Given the description of an element on the screen output the (x, y) to click on. 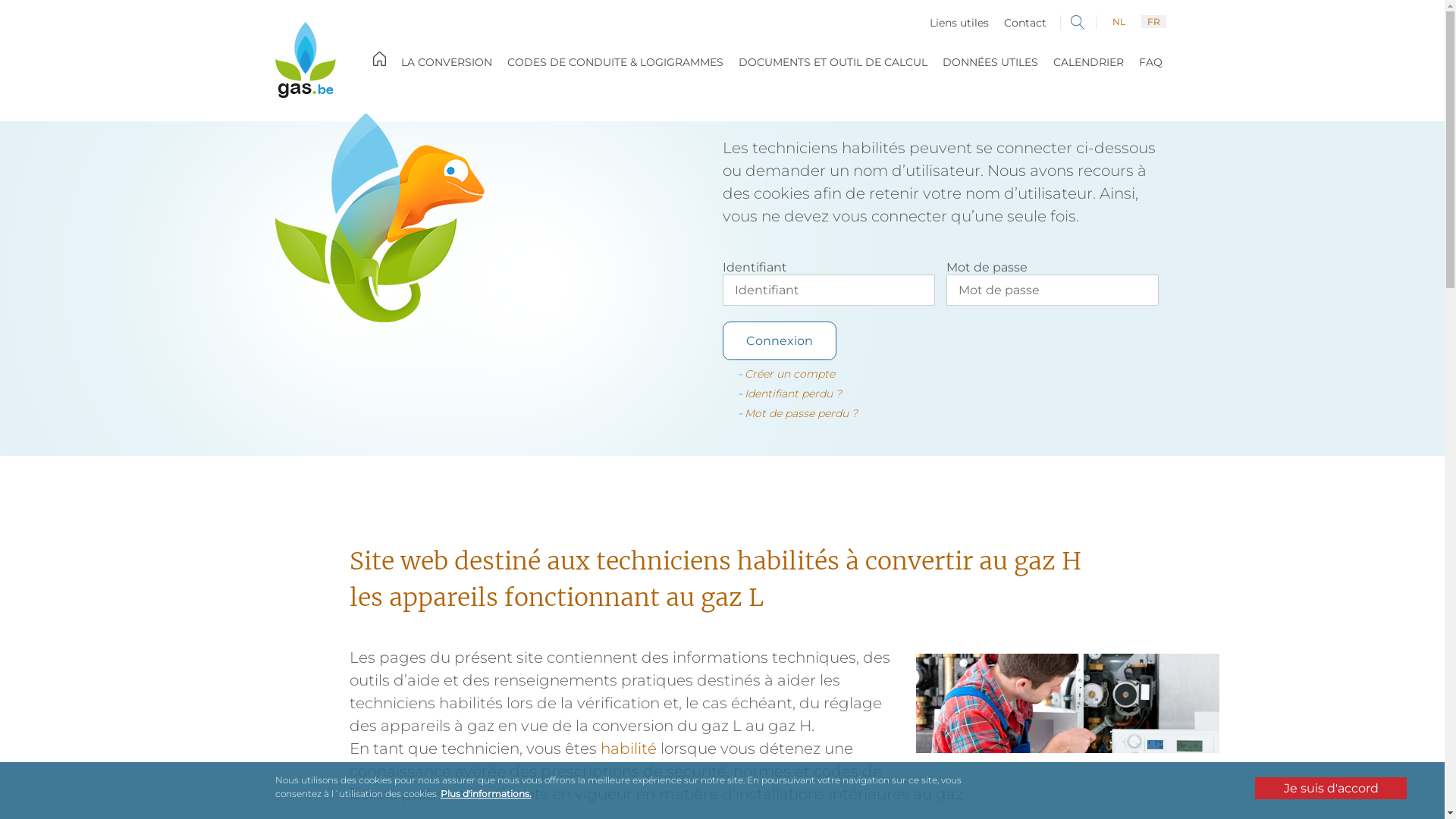
CALENDRIER Element type: text (1087, 62)
FR Element type: text (1152, 21)
FAQ Element type: text (1150, 62)
Identifiant perdu ? Element type: text (792, 393)
Contact Element type: text (1025, 22)
Liens utiles Element type: text (958, 22)
DOCUMENTS ET OUTIL DE CALCUL Element type: text (832, 62)
NL Element type: text (1117, 21)
Plus d'informations. Element type: text (484, 793)
Connexion Element type: text (778, 340)
CODES DE CONDUITE & LOGIGRAMMES Element type: text (614, 62)
LA CONVERSION Element type: text (445, 62)
Mot de passe perdu ? Element type: text (800, 413)
